Given the description of an element on the screen output the (x, y) to click on. 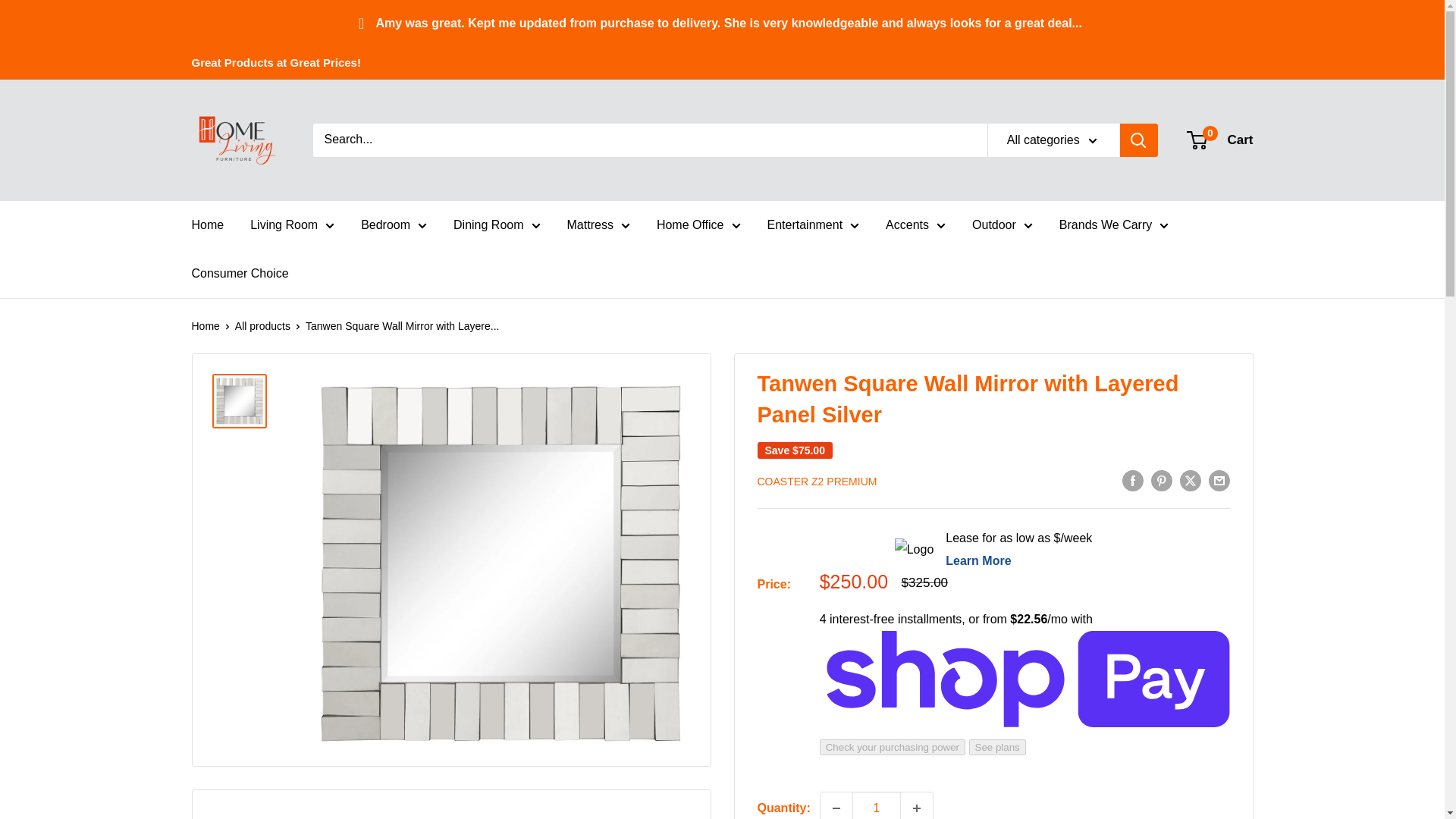
Increase quantity by 1 (917, 805)
1 (876, 805)
Decrease quantity by 1 (836, 805)
